Given the description of an element on the screen output the (x, y) to click on. 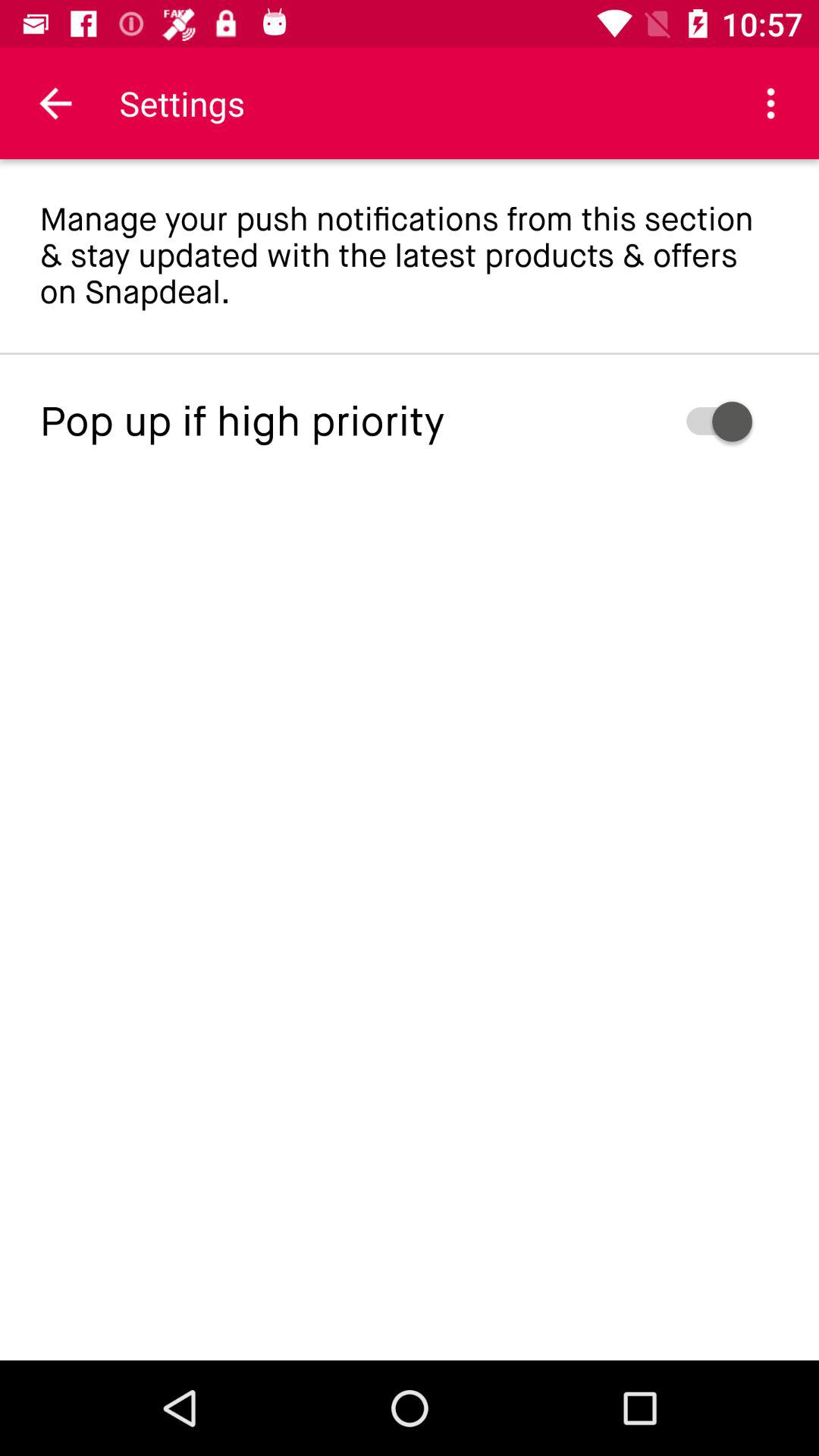
select the icon above the manage your push (771, 103)
